Given the description of an element on the screen output the (x, y) to click on. 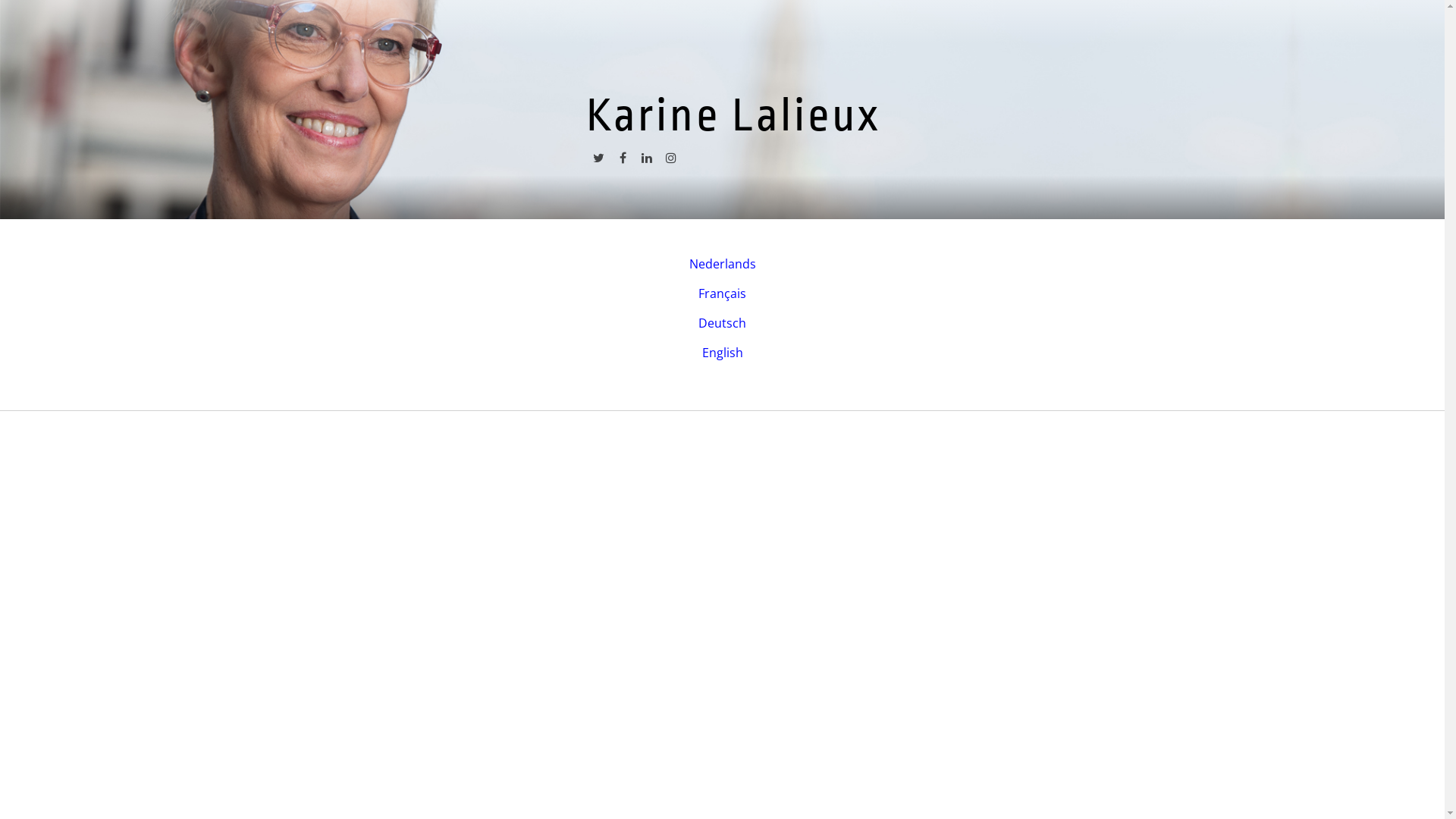
instagram Element type: text (670, 161)
Deutsch Element type: text (722, 322)
Skip to main content Element type: text (59, 0)
facebook Element type: text (622, 161)
English Element type: text (722, 352)
linkedin Element type: text (646, 161)
twitter Element type: text (598, 161)
Karine Lalieux Element type: text (733, 115)
Nederlands Element type: text (721, 263)
